Given the description of an element on the screen output the (x, y) to click on. 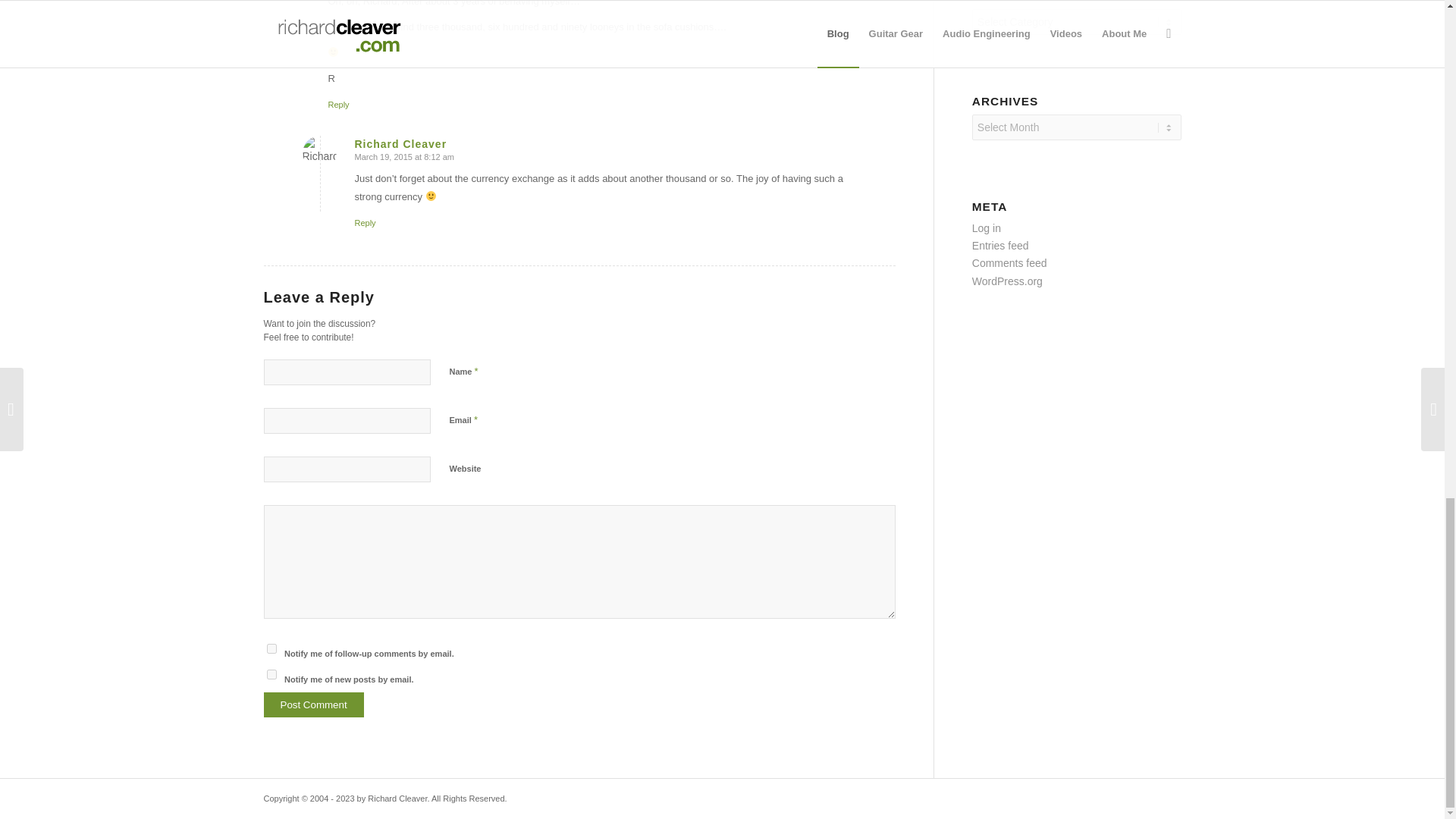
Post Comment (313, 704)
Reply (338, 103)
subscribe (271, 674)
subscribe (271, 648)
Richard Cleaver (400, 143)
Reply (365, 222)
March 19, 2015 at 8:12 am (404, 156)
